Given the description of an element on the screen output the (x, y) to click on. 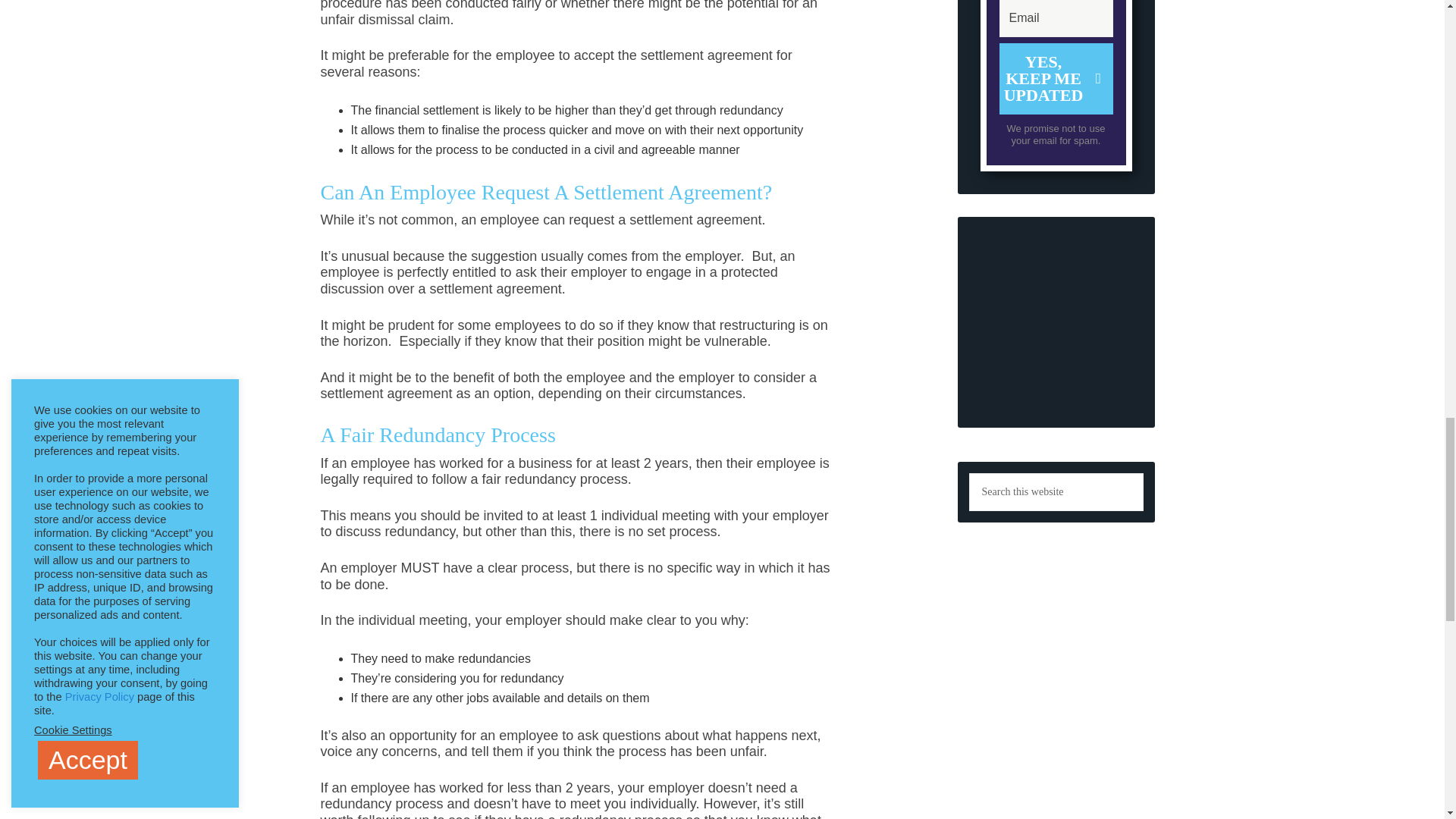
YouTube video player (1055, 331)
Yes, keep me updated (1055, 78)
